Given the description of an element on the screen output the (x, y) to click on. 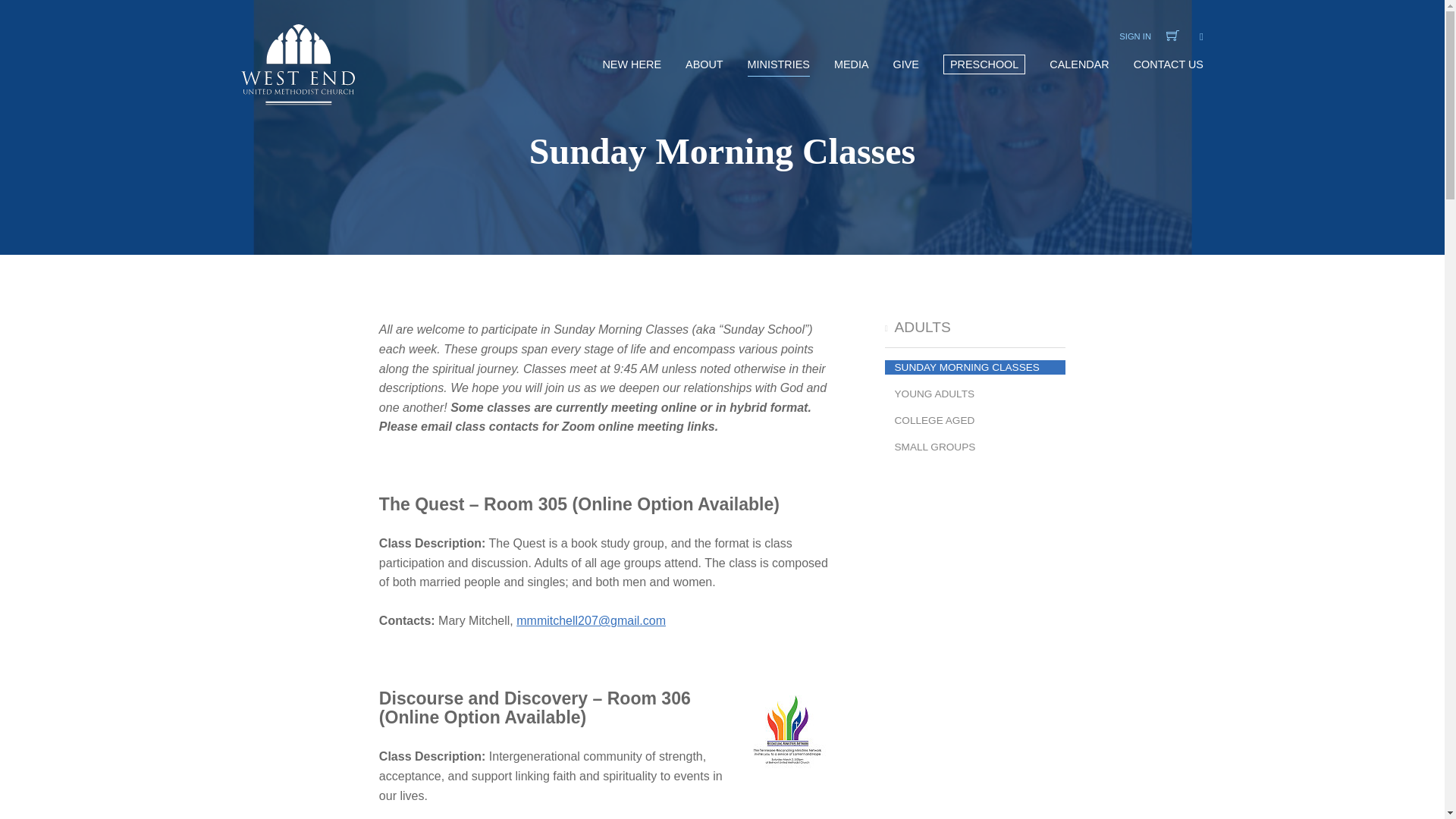
SIGN IN (1135, 35)
MINISTRIES (778, 82)
NEW HERE (631, 82)
Sign In (1135, 35)
